Given the description of an element on the screen output the (x, y) to click on. 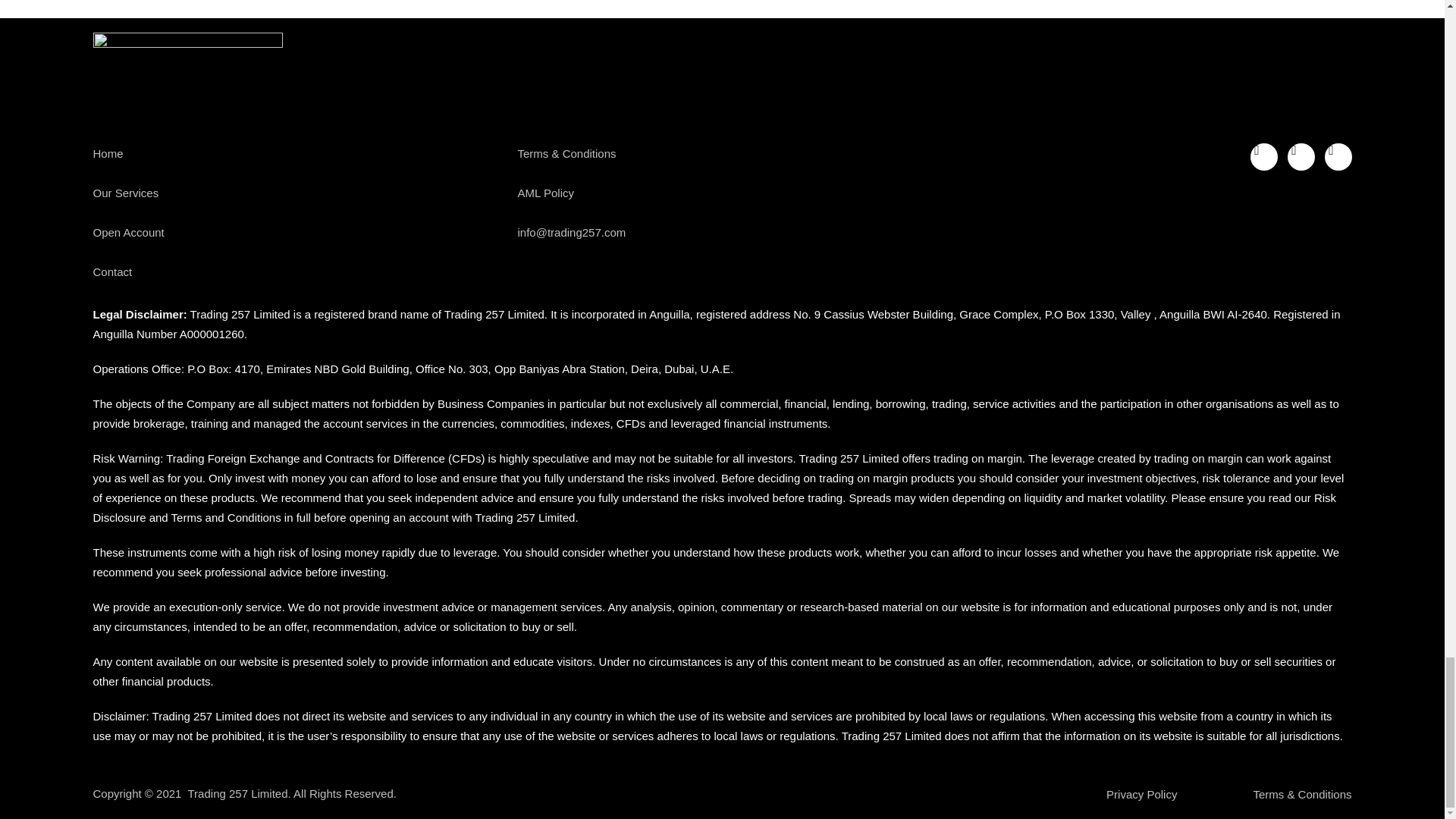
Contact (297, 271)
Open Account (297, 231)
Our Services (297, 192)
Home (297, 153)
Privacy Policy (1141, 793)
AML Policy (721, 192)
